Given the description of an element on the screen output the (x, y) to click on. 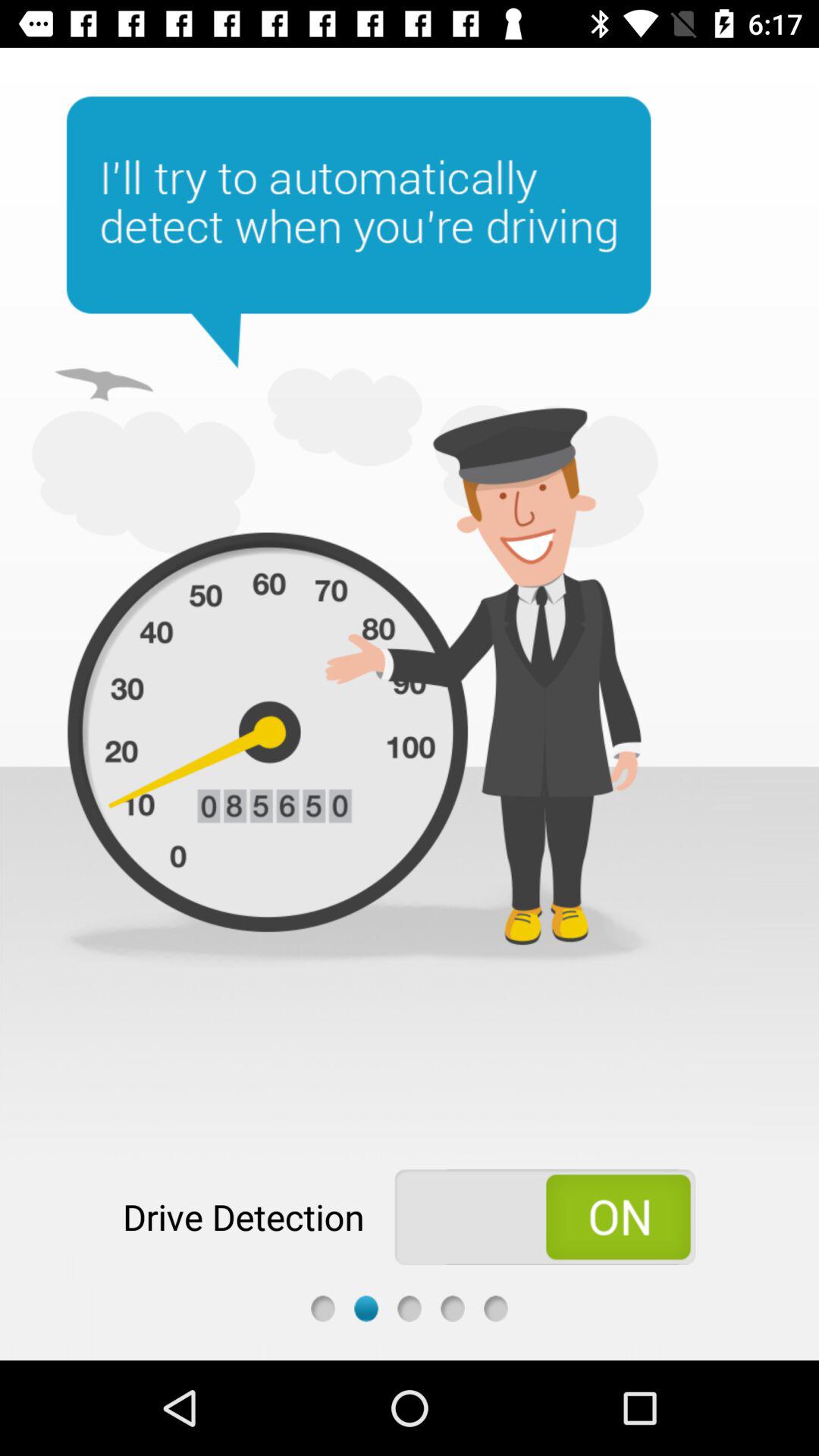
toggle drive detection (544, 1216)
